Given the description of an element on the screen output the (x, y) to click on. 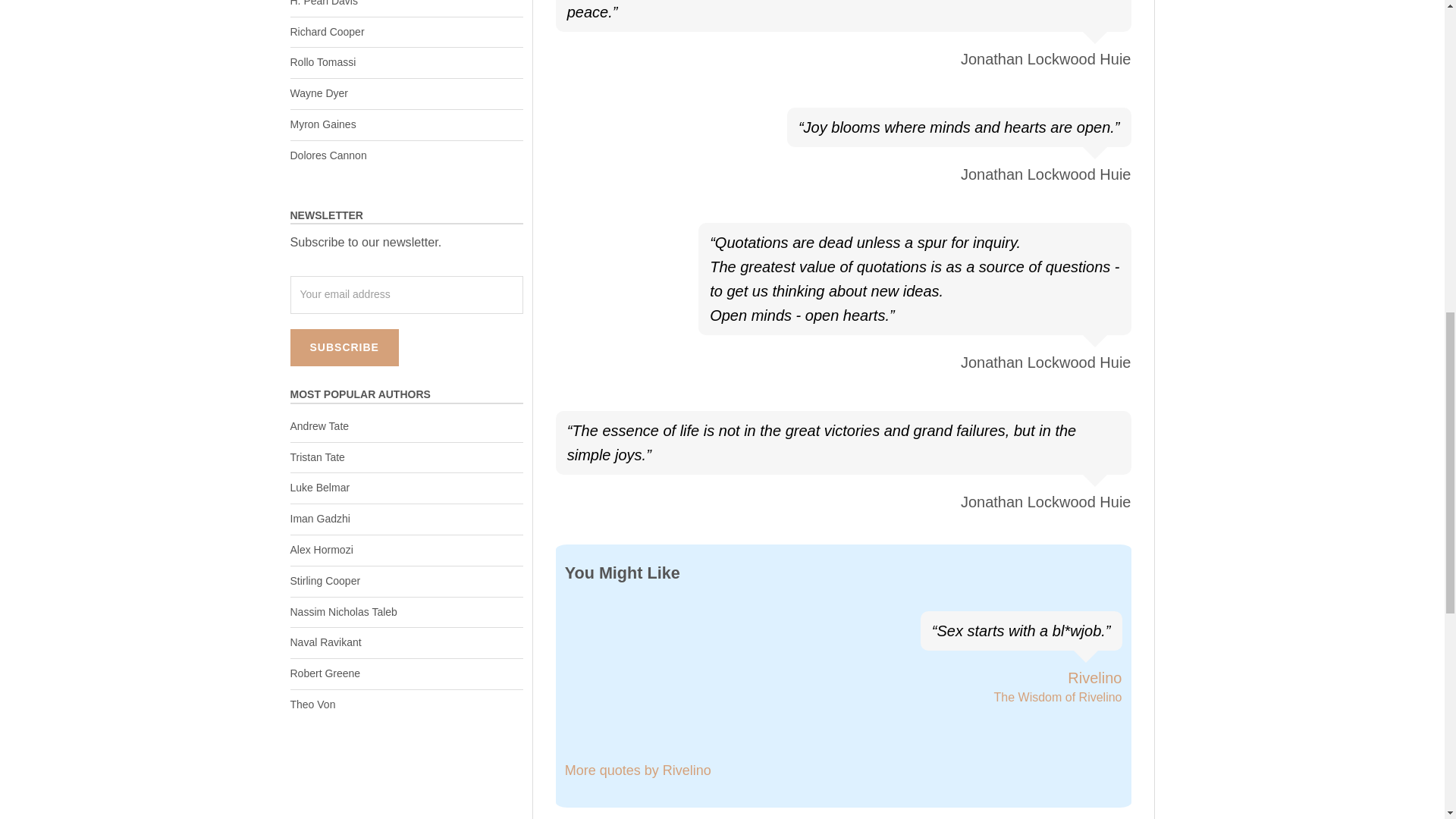
Subscribe (343, 347)
Subscribe (343, 347)
More quotes by Rivelino (637, 770)
Andrew Tate (319, 426)
Rivelino (1094, 677)
Rollo Tomassi (322, 61)
Myron Gaines (322, 123)
H. Pearl Davis (322, 3)
Dolores Cannon (327, 155)
Richard Cooper (326, 31)
